Given the description of an element on the screen output the (x, y) to click on. 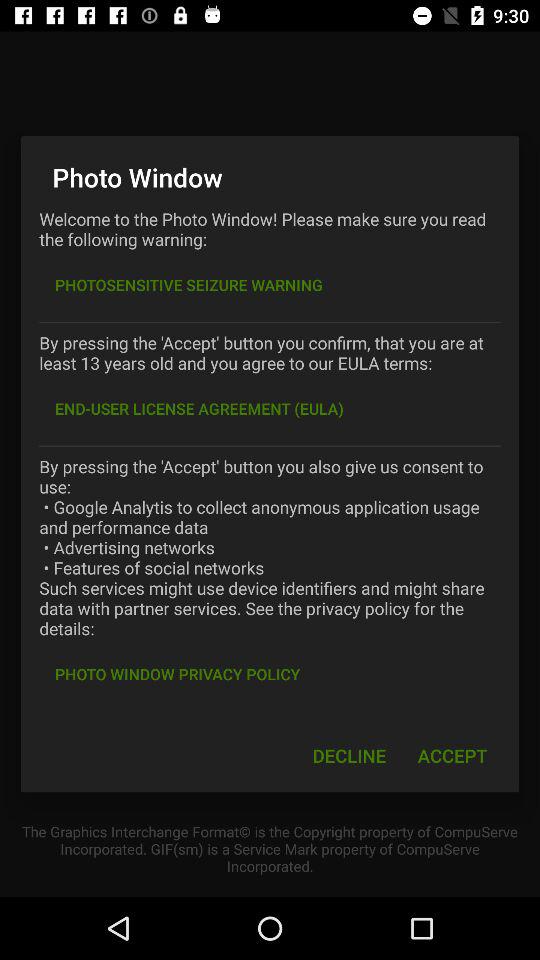
swipe to photosensitive seizure warning item (188, 284)
